Given the description of an element on the screen output the (x, y) to click on. 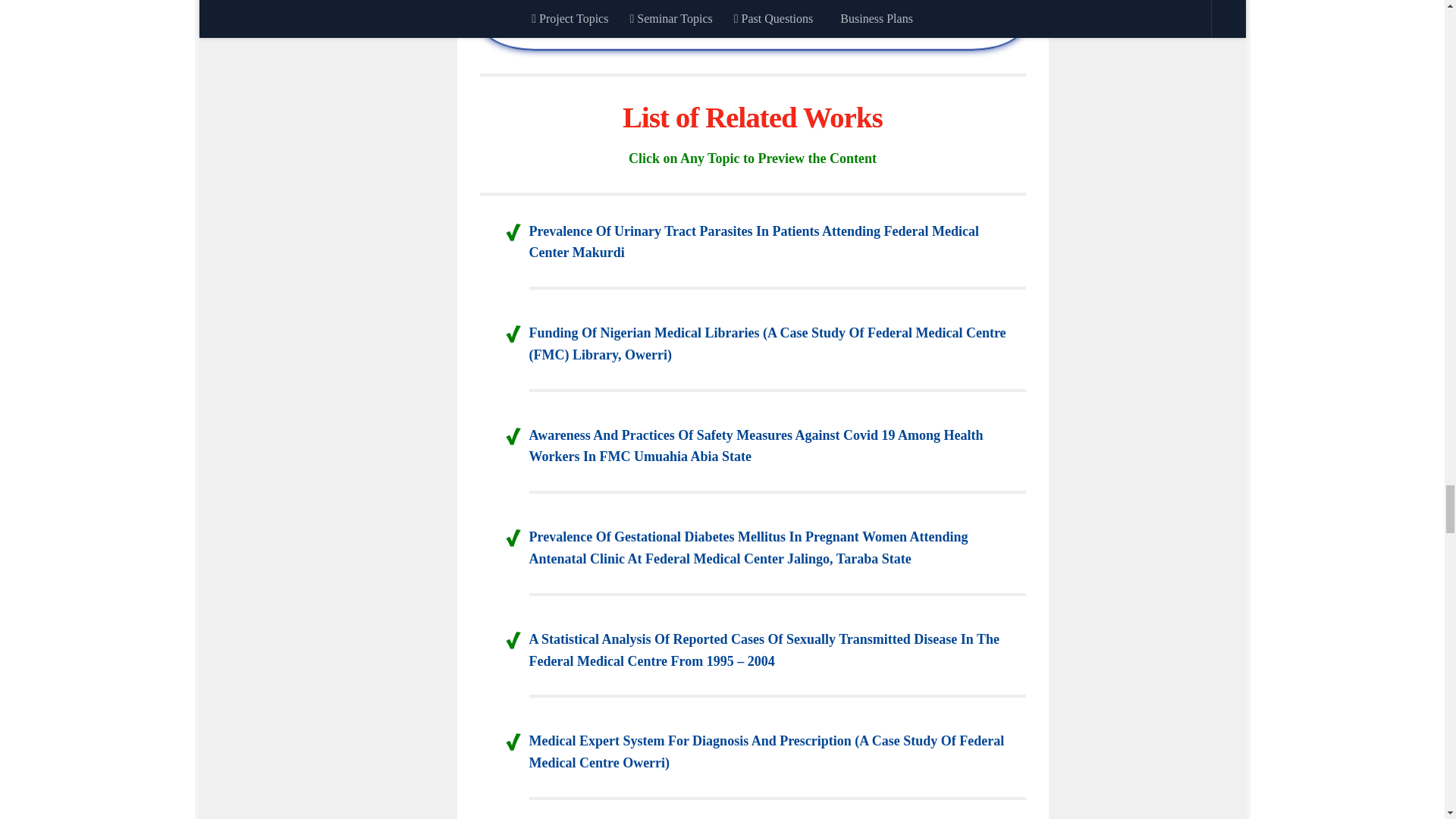
Download Business Plans in Nigeria (752, 14)
